Given the description of an element on the screen output the (x, y) to click on. 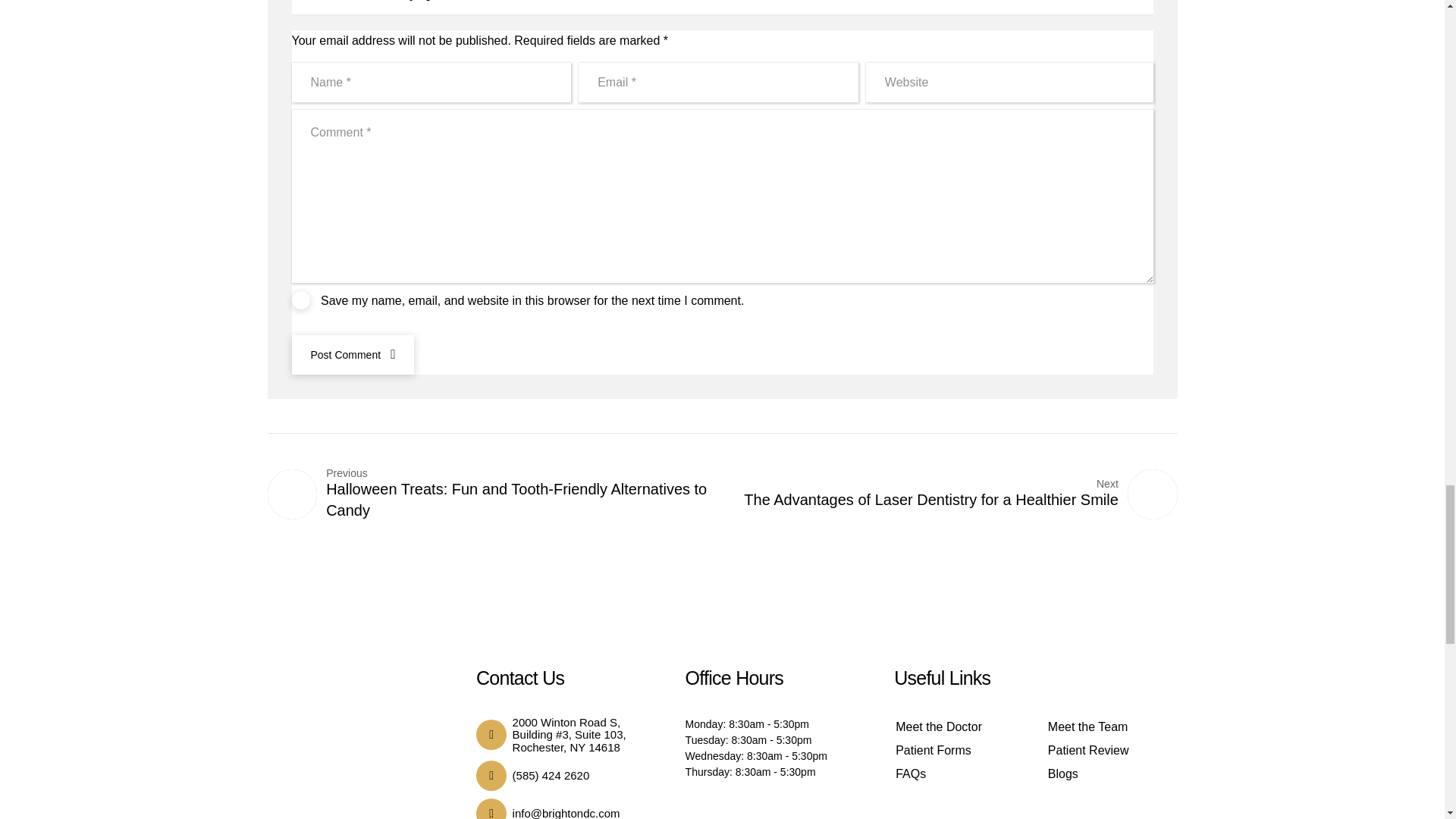
yes (299, 300)
Brighton Dental Care (366, 744)
